Given the description of an element on the screen output the (x, y) to click on. 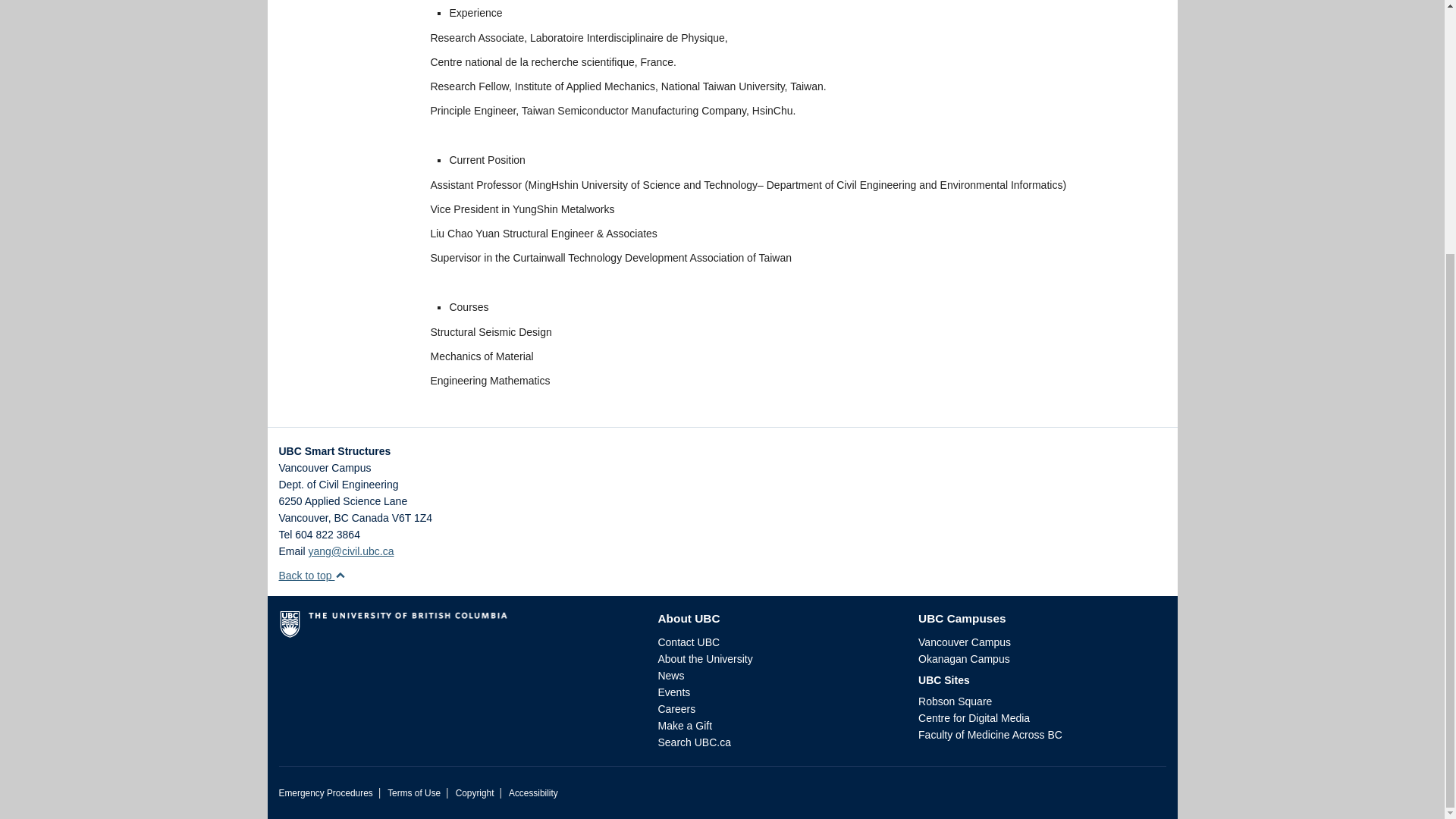
UBC Copyright (475, 792)
Terms of Use (414, 792)
Emergency Procedures (325, 792)
Back to top (312, 575)
Contact UBC (688, 642)
The University of British Columbia (456, 629)
Accessibility (532, 792)
Back to top (312, 575)
